Given the description of an element on the screen output the (x, y) to click on. 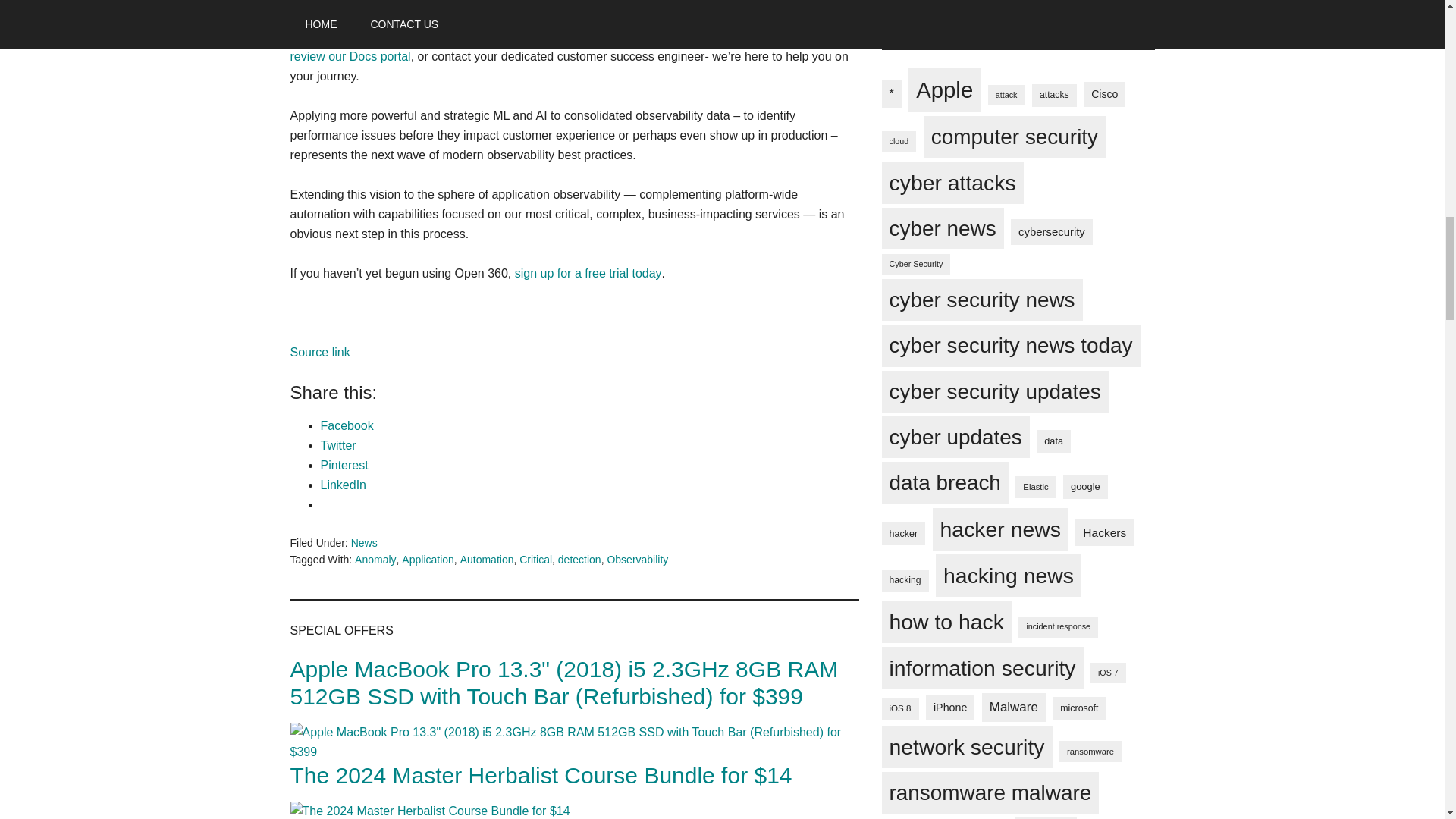
Click to share on Twitter (337, 445)
Click to share on Facebook (346, 425)
Click to share on Pinterest (344, 464)
Click to share on LinkedIn (343, 484)
